Given the description of an element on the screen output the (x, y) to click on. 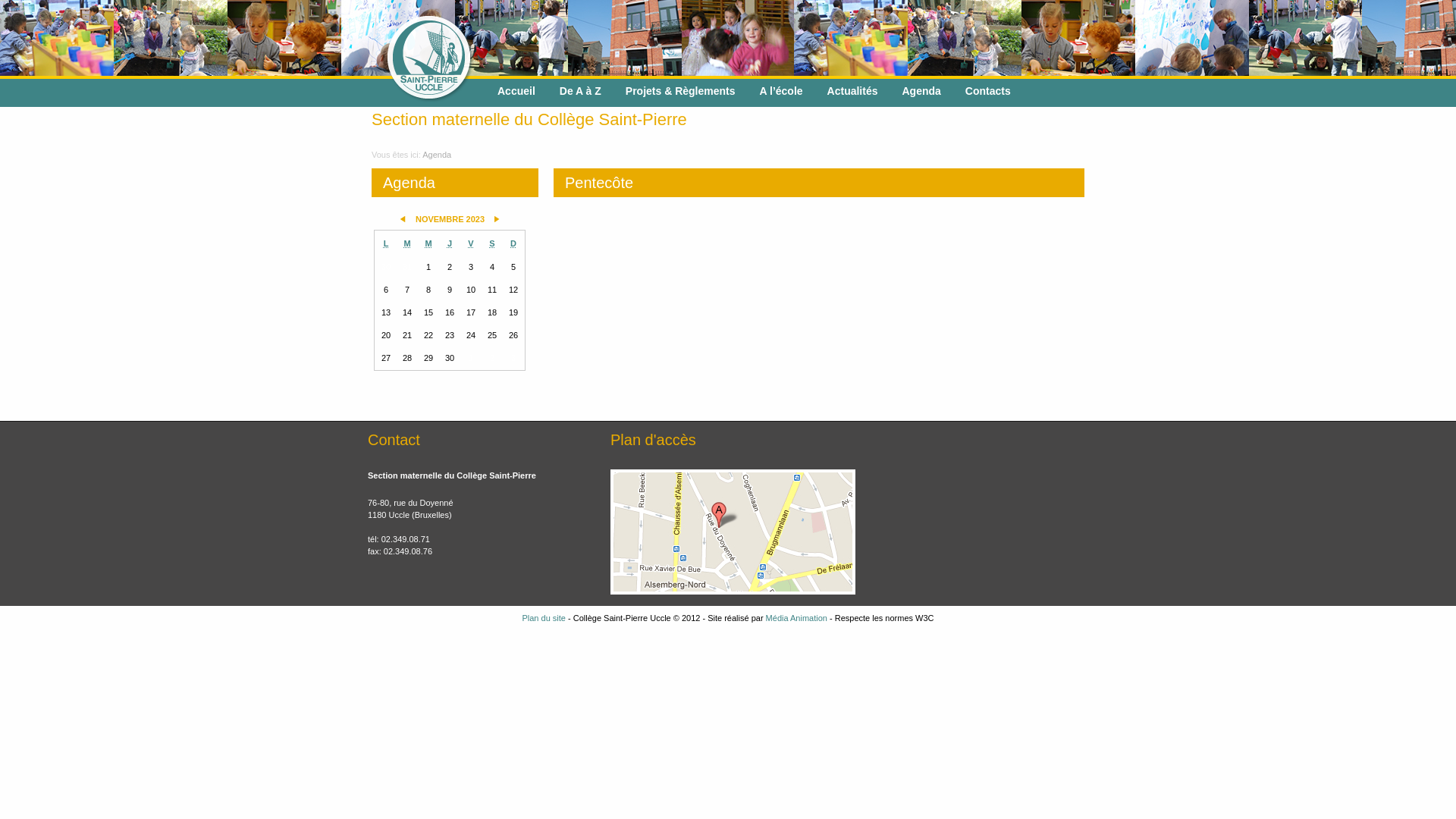
Mois suivant Element type: hover (496, 219)
Accueil Element type: text (516, 90)
Contacts Element type: text (987, 90)
octobre 2023 Element type: hover (402, 218)
Plan du site Element type: text (542, 617)
Agenda Element type: text (436, 154)
Agenda Element type: text (921, 90)
